Given the description of an element on the screen output the (x, y) to click on. 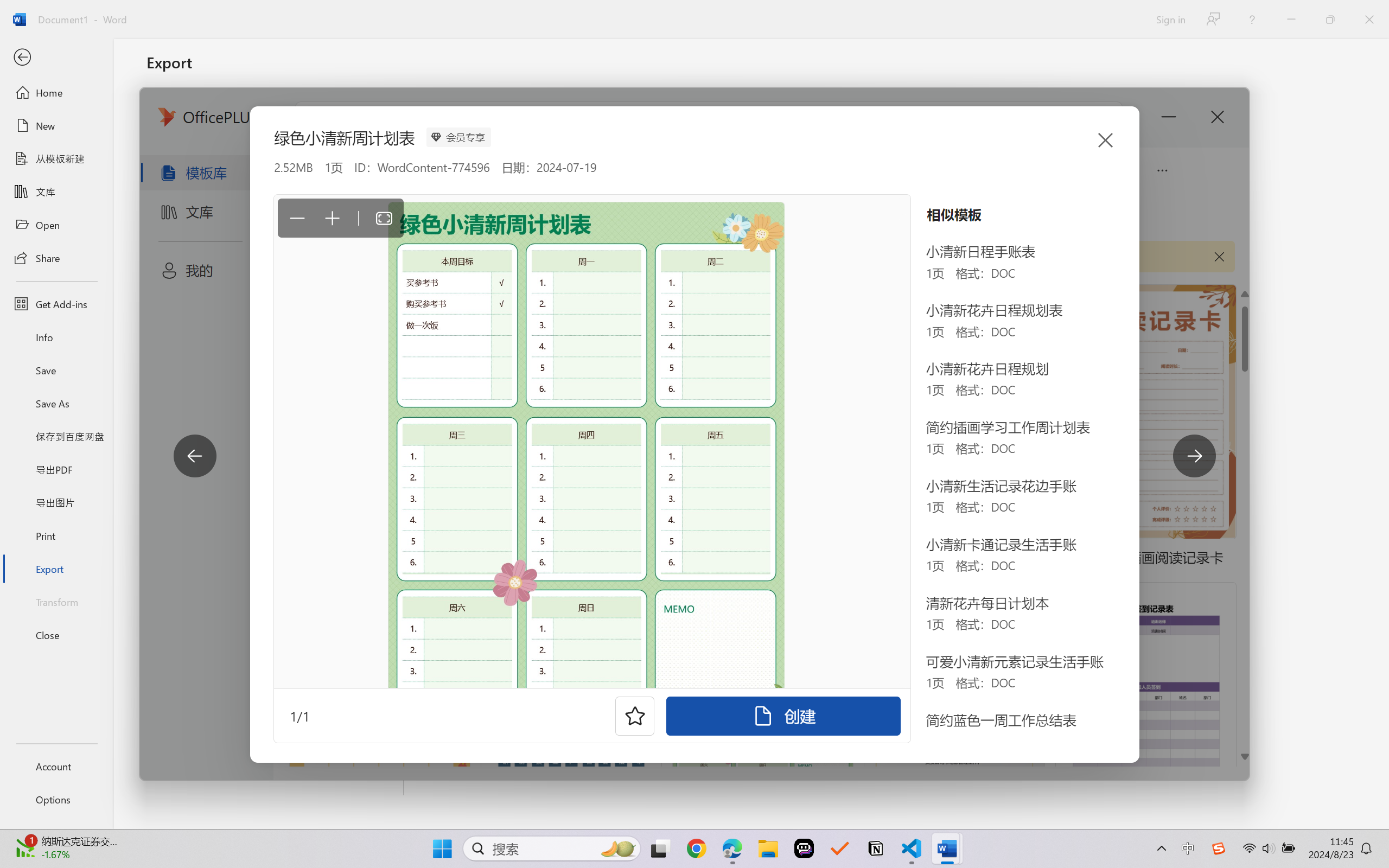
Options (56, 798)
Transform (56, 601)
Get Add-ins (56, 303)
Info (56, 337)
Print (56, 535)
